Given the description of an element on the screen output the (x, y) to click on. 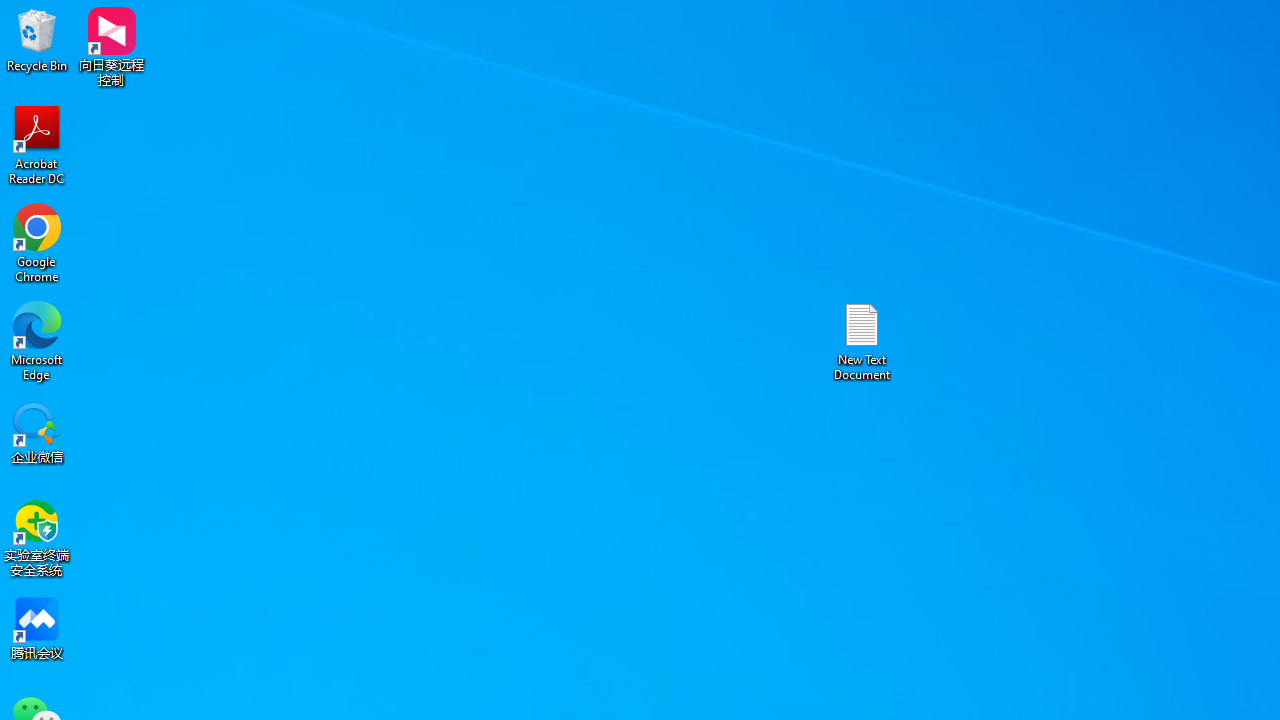
Google Chrome (37, 242)
Acrobat Reader DC (37, 144)
Microsoft Edge (37, 340)
Recycle Bin (37, 39)
New Text Document (861, 340)
